Given the description of an element on the screen output the (x, y) to click on. 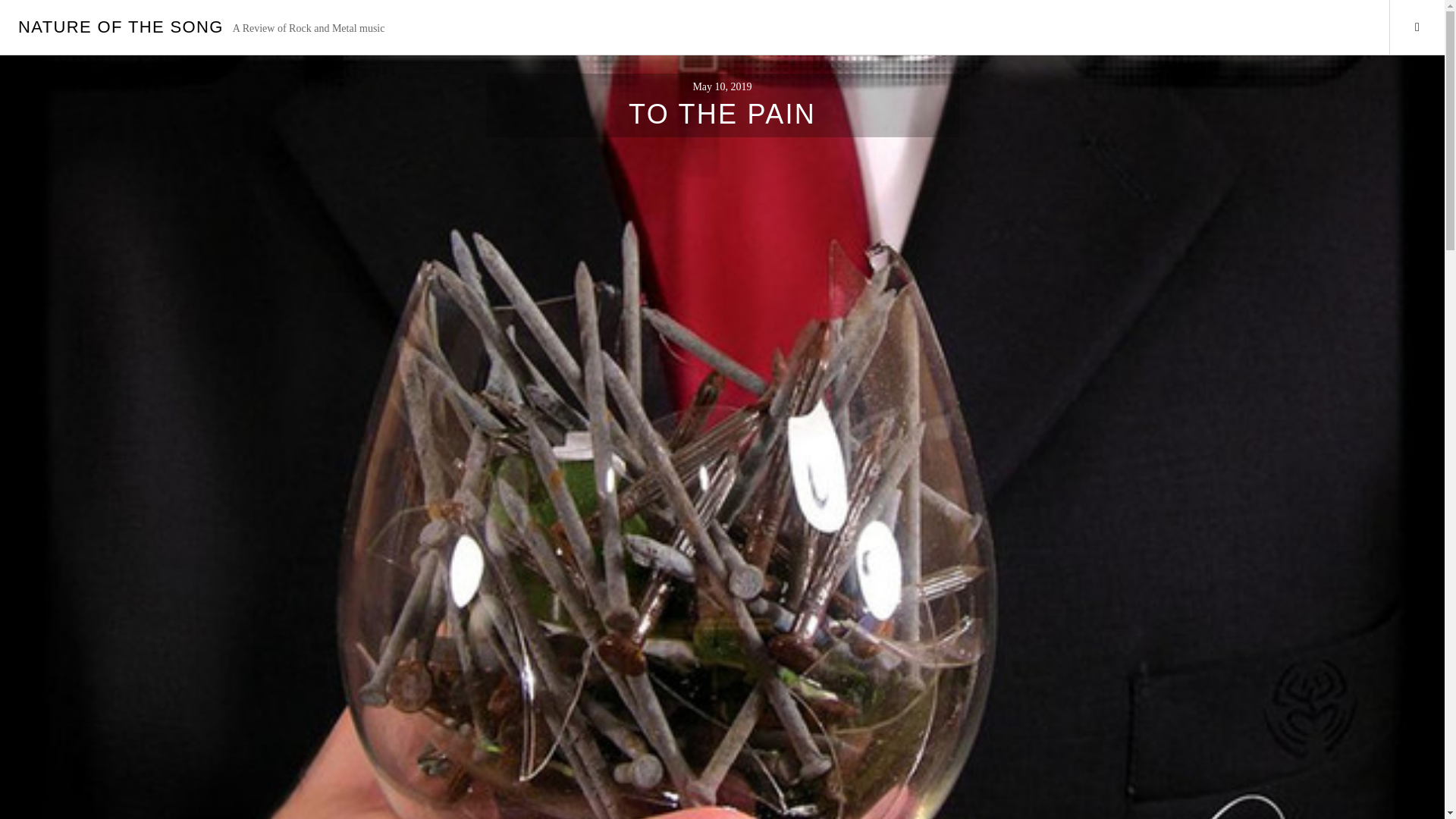
NATURE OF THE SONG (120, 26)
